Given the description of an element on the screen output the (x, y) to click on. 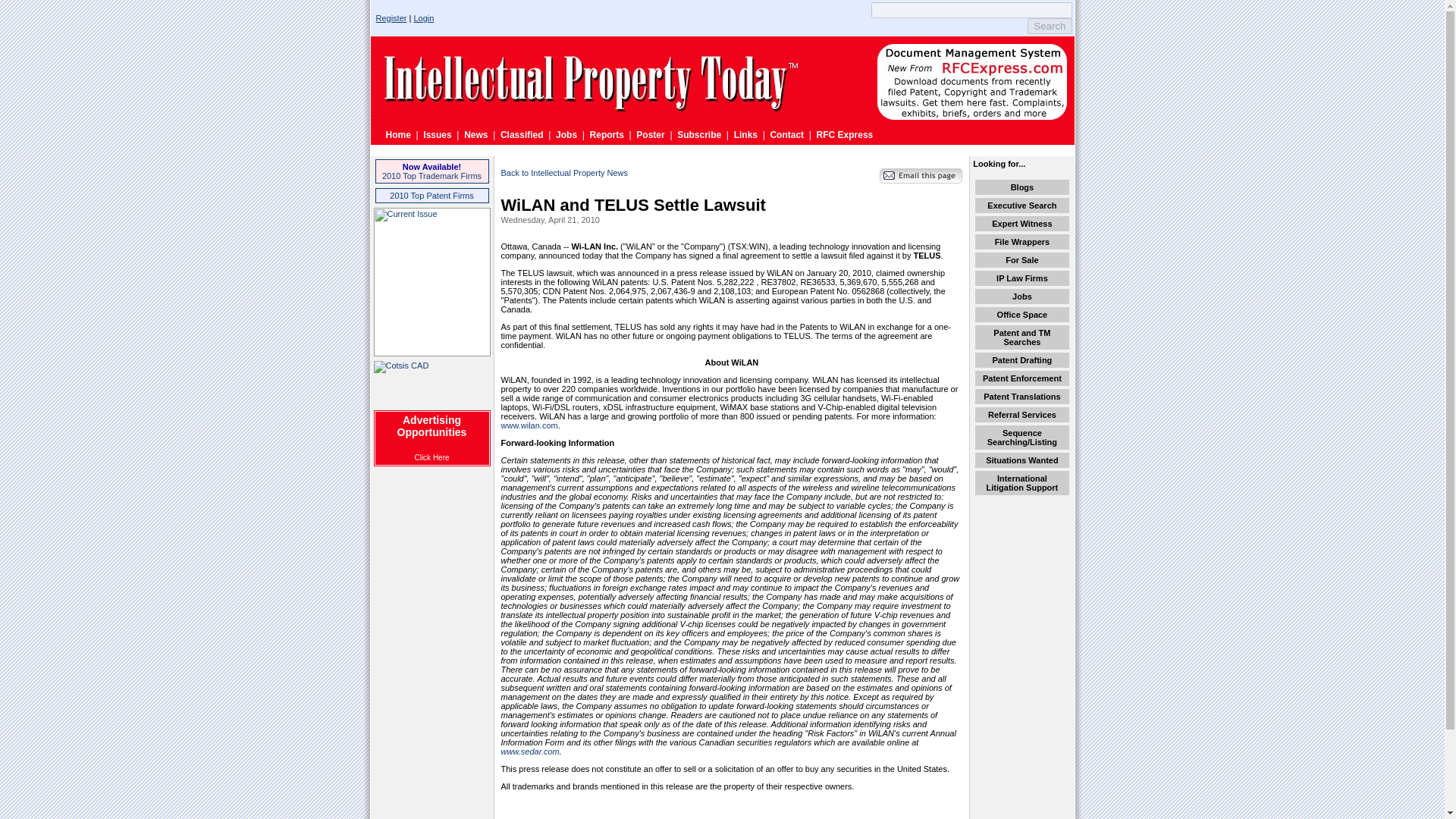
Back to Intellectual Property News (563, 172)
www.wilan.com (528, 424)
For Sale (1022, 259)
www.sedar.com (529, 750)
Blogs (1021, 186)
Referral Services (1022, 414)
Reports (606, 134)
Executive Search (1022, 204)
Patent Drafting (1021, 359)
2010 Top Patent Firms (431, 194)
Jobs (566, 134)
Situations Wanted (1021, 460)
Login (423, 17)
Search (1049, 26)
Subscribe (698, 134)
